Given the description of an element on the screen output the (x, y) to click on. 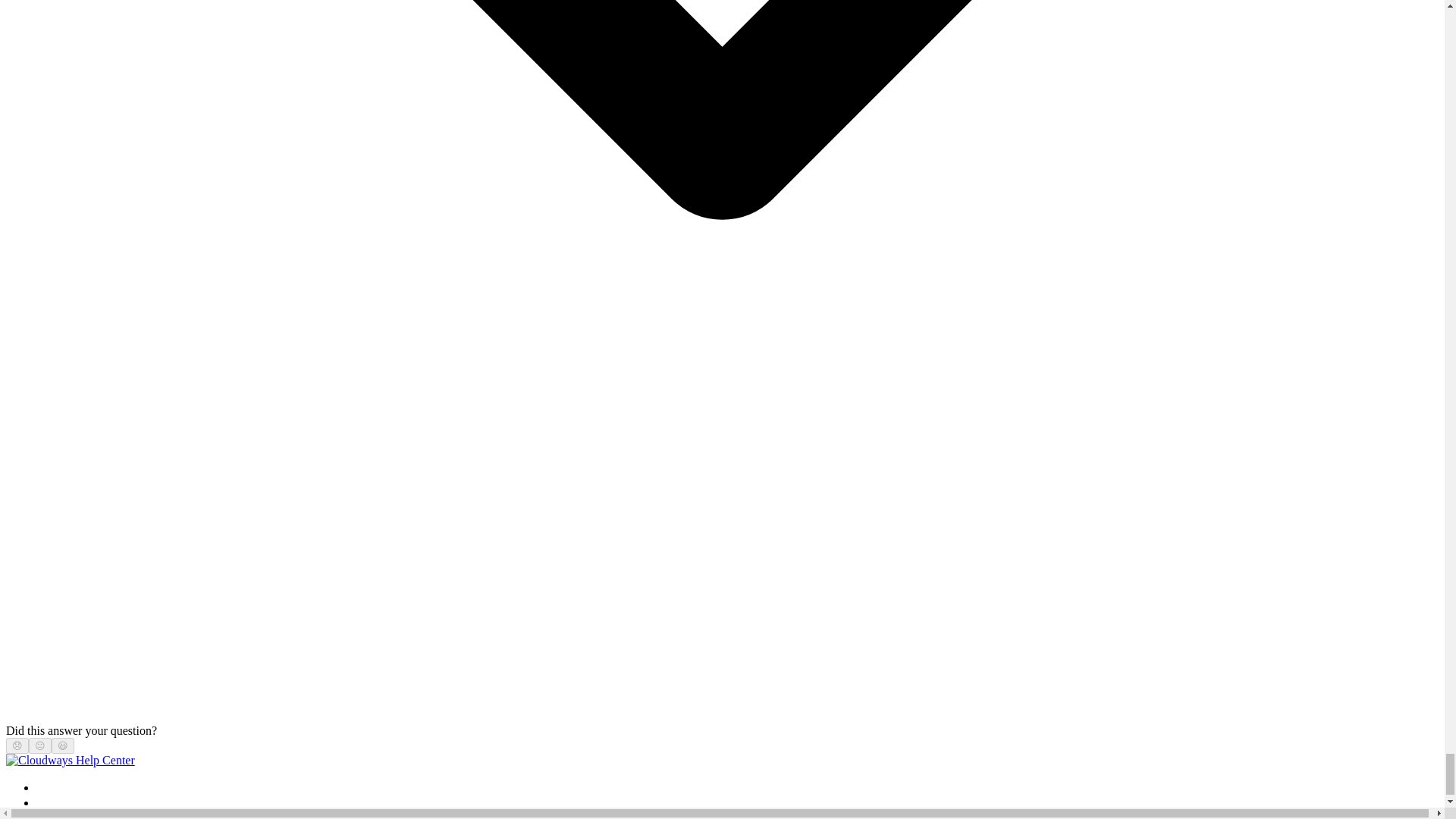
Neutral (39, 745)
Smiley (63, 745)
Disappointed (17, 745)
